Given the description of an element on the screen output the (x, y) to click on. 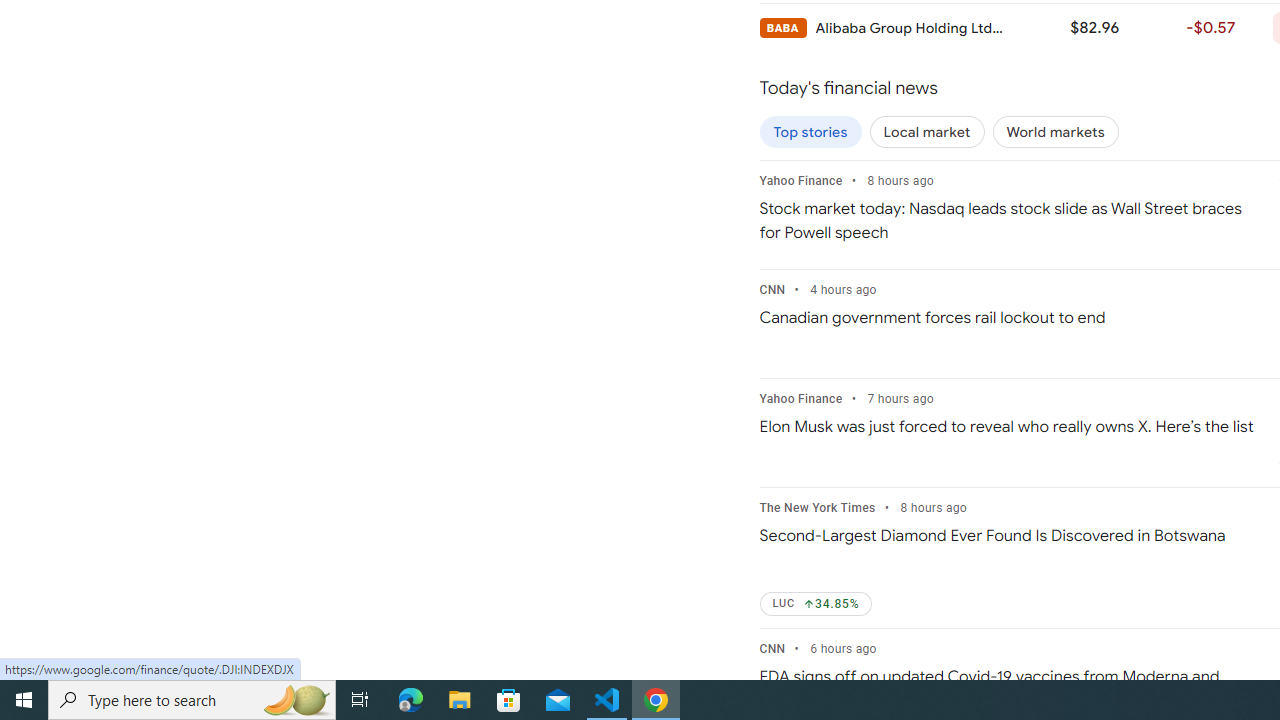
Local market (927, 131)
LUC Up by 34.85% (815, 603)
World markets (1055, 131)
Top stories (810, 131)
